Given the description of an element on the screen output the (x, y) to click on. 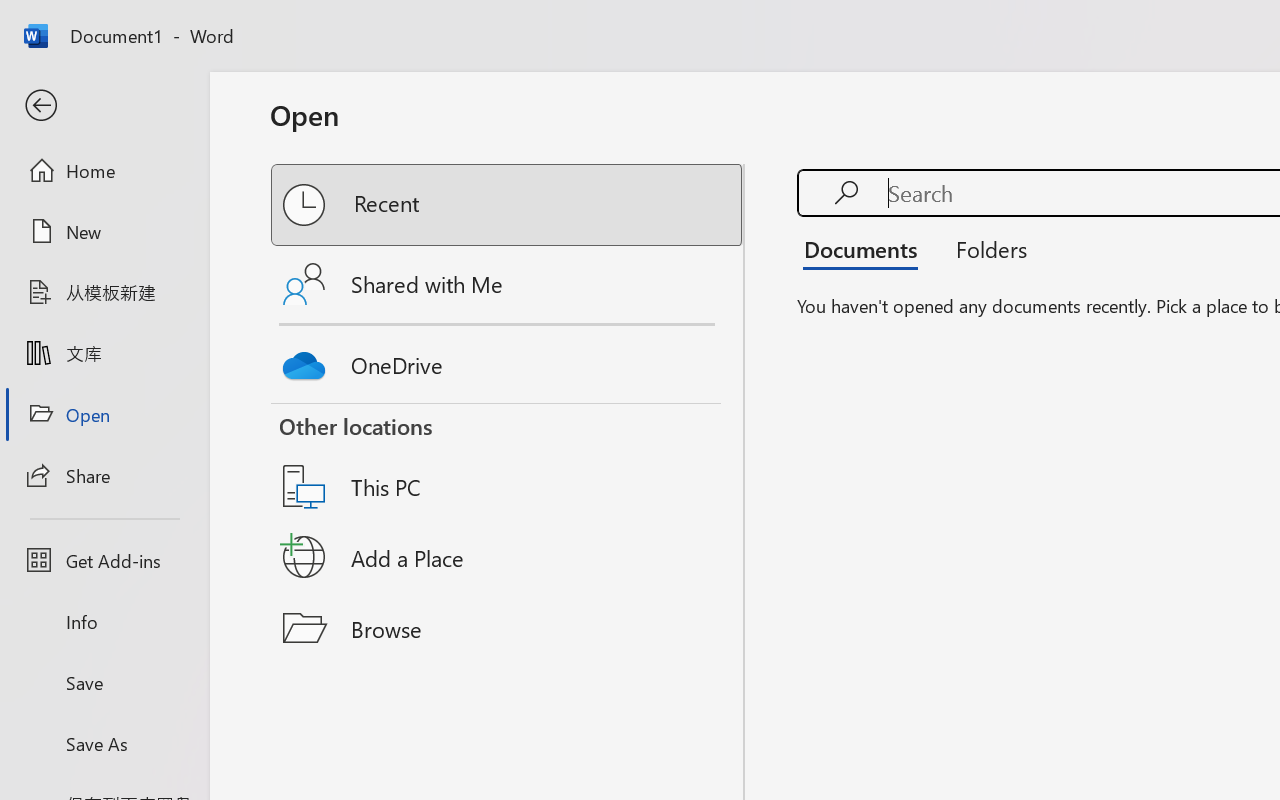
New (104, 231)
Back (104, 106)
Get Add-ins (104, 560)
Browse (507, 627)
Shared with Me (507, 283)
Save As (104, 743)
Info (104, 621)
Add a Place (507, 557)
